Given the description of an element on the screen output the (x, y) to click on. 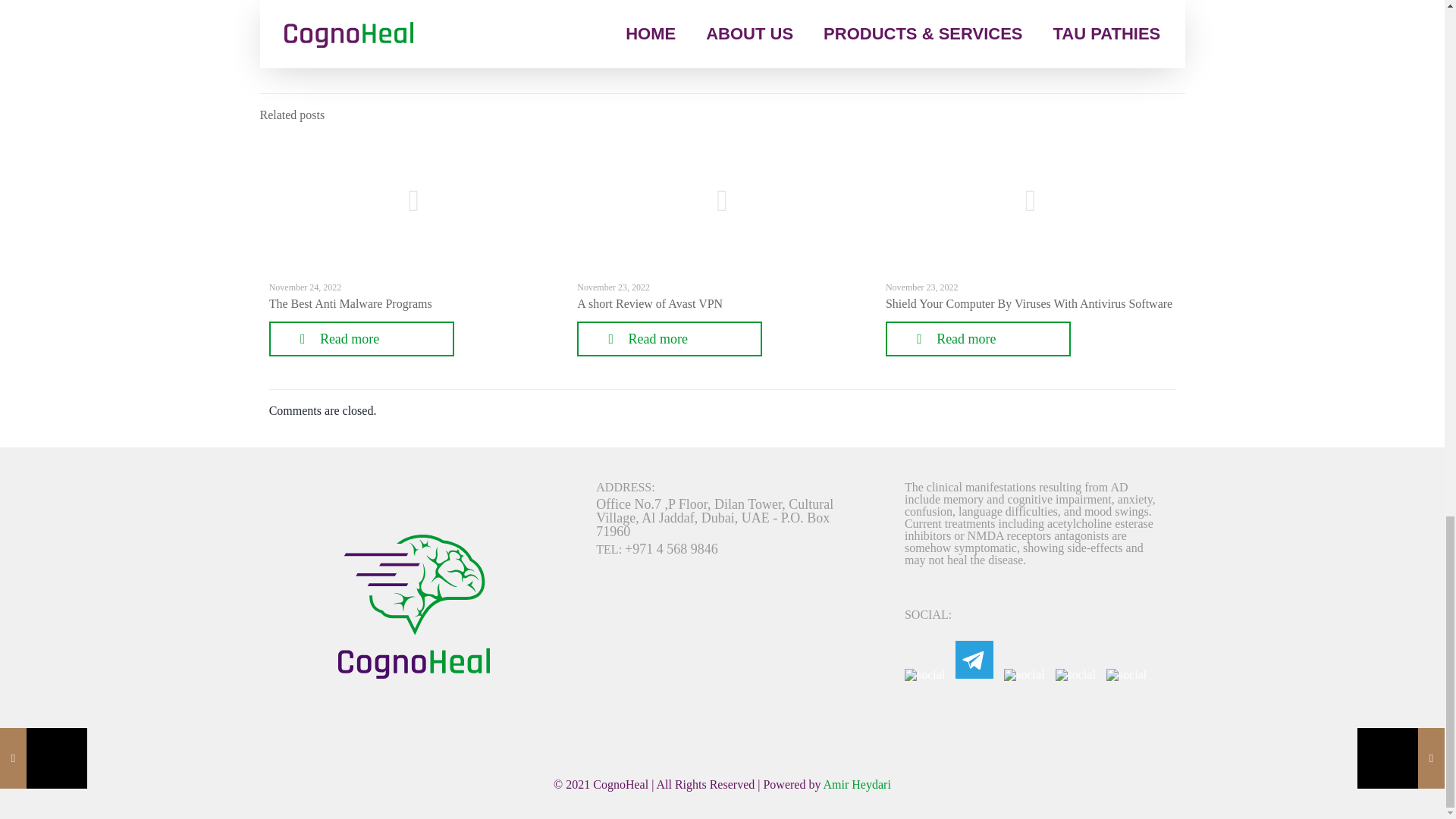
Amir Heydari (857, 784)
Read more (668, 338)
The Best Anti Malware Programs (350, 303)
Read more (977, 338)
Shield Your Computer By Viruses With Antivirus Software (1028, 303)
A short Review of Avast VPN (649, 303)
Read more (361, 338)
